Given the description of an element on the screen output the (x, y) to click on. 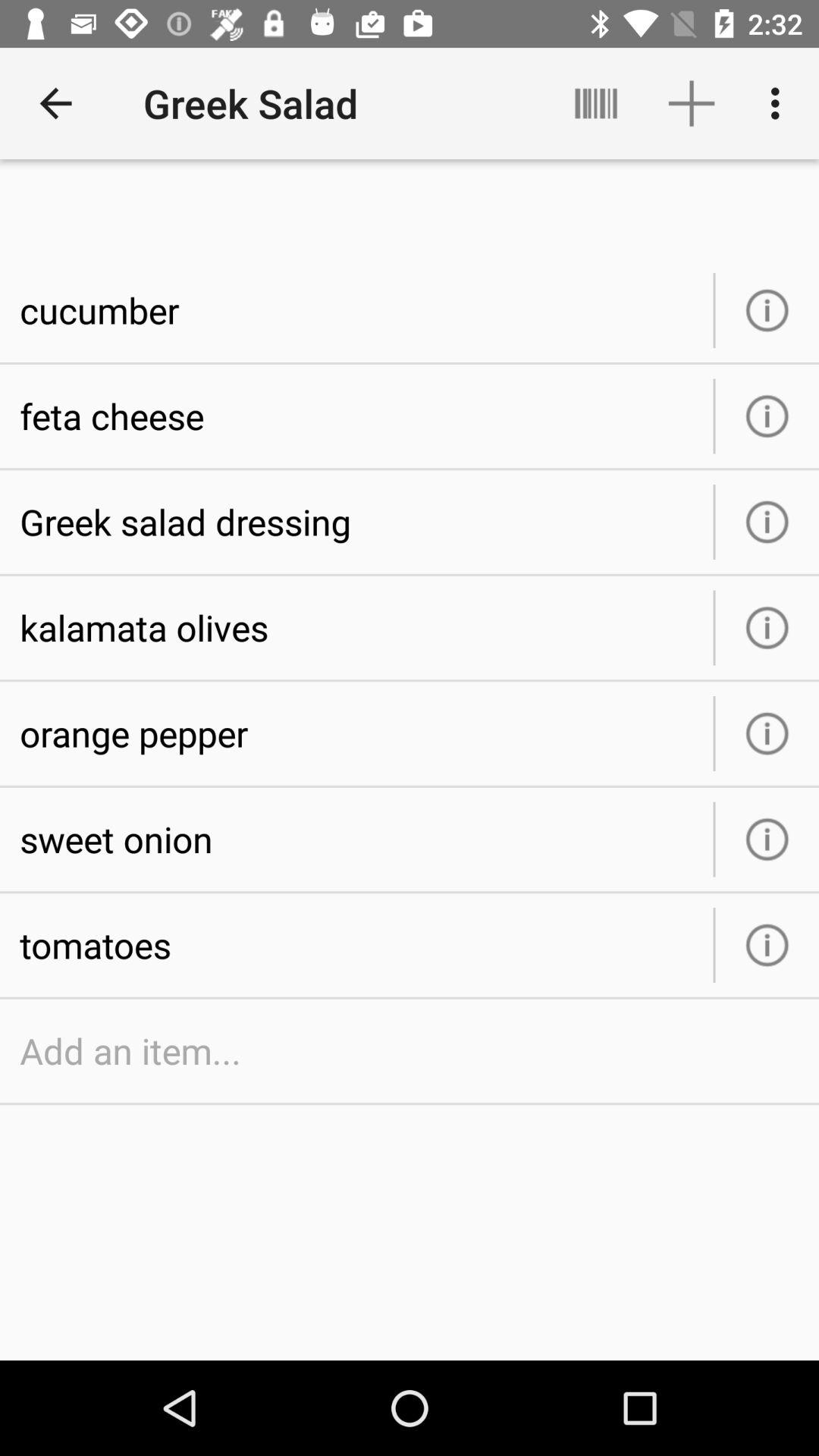
select icon above the cucumber icon (595, 103)
